Given the description of an element on the screen output the (x, y) to click on. 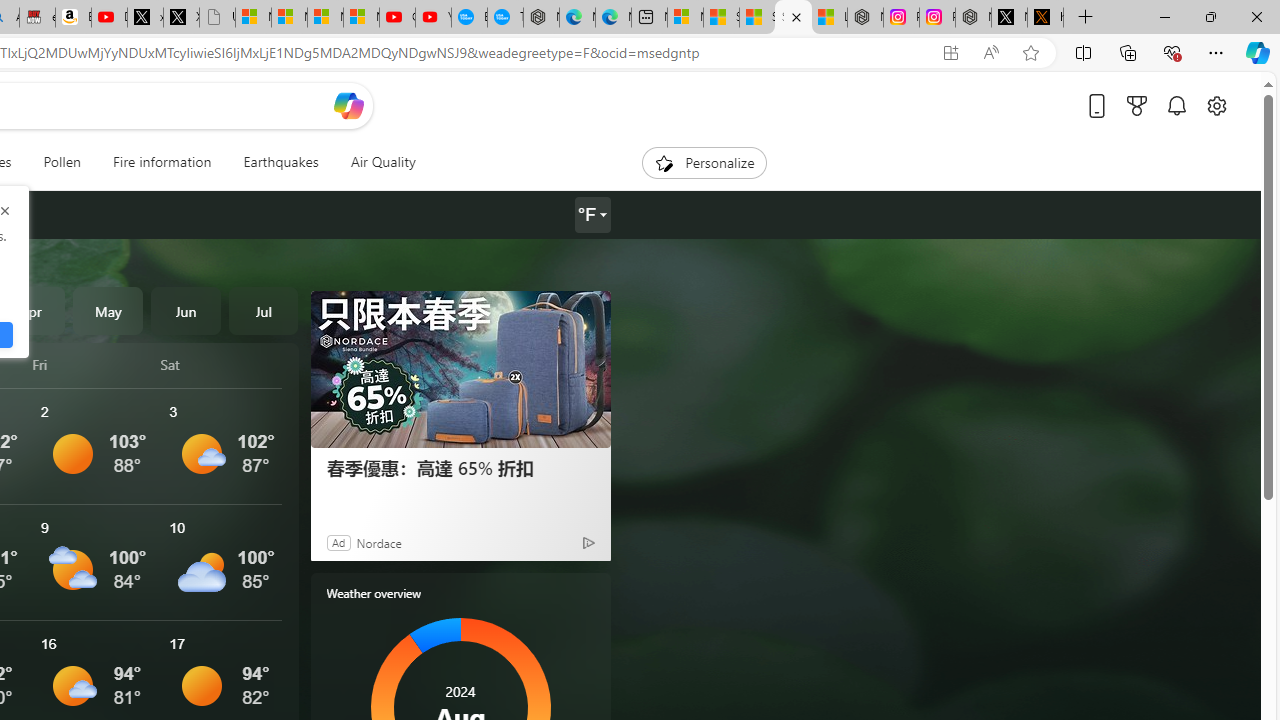
See More Details (221, 561)
Gloom - YouTube (397, 17)
Personalize (703, 162)
The most popular Google 'how to' searches (505, 17)
